Given the description of an element on the screen output the (x, y) to click on. 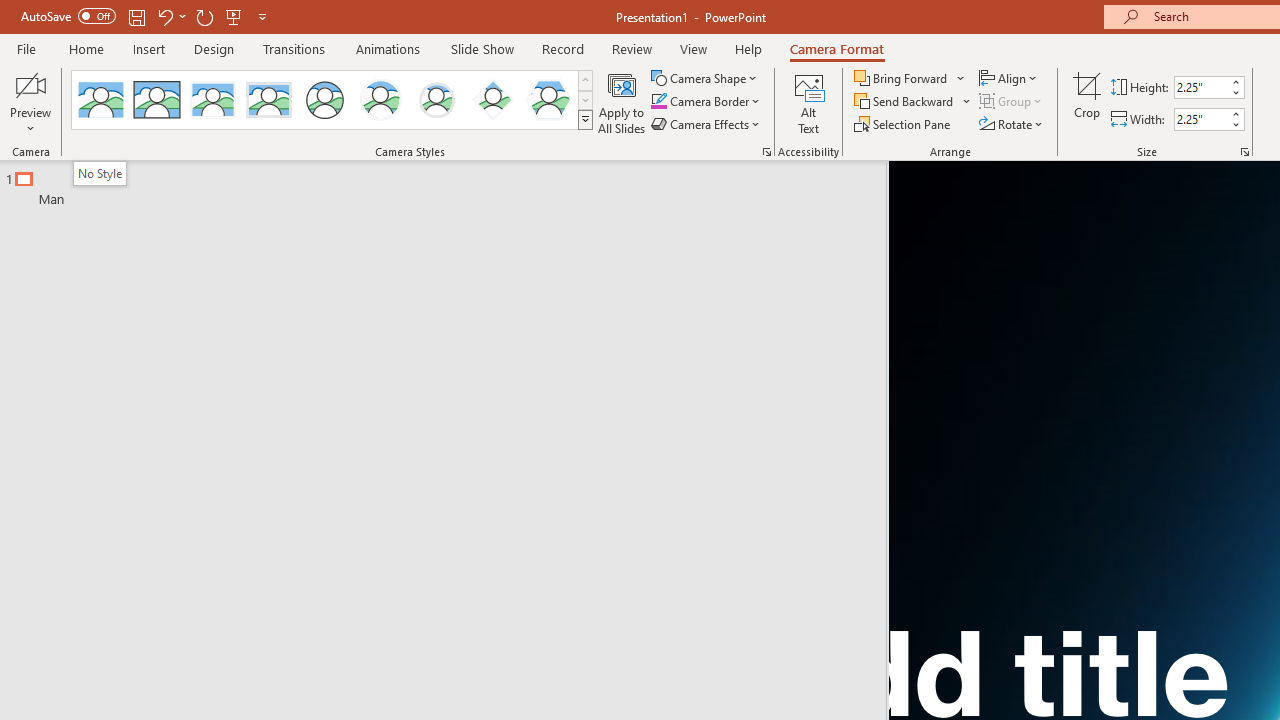
Rotate (1012, 124)
Camera Shape (705, 78)
No Style (99, 173)
Center Shadow Hexagon (548, 100)
Camera Border (706, 101)
Camera Styles (585, 120)
Format Object... (766, 151)
Align (1009, 78)
Soft Edge Rectangle (268, 100)
Camera Border Blue, Accent 1 (658, 101)
